Given the description of an element on the screen output the (x, y) to click on. 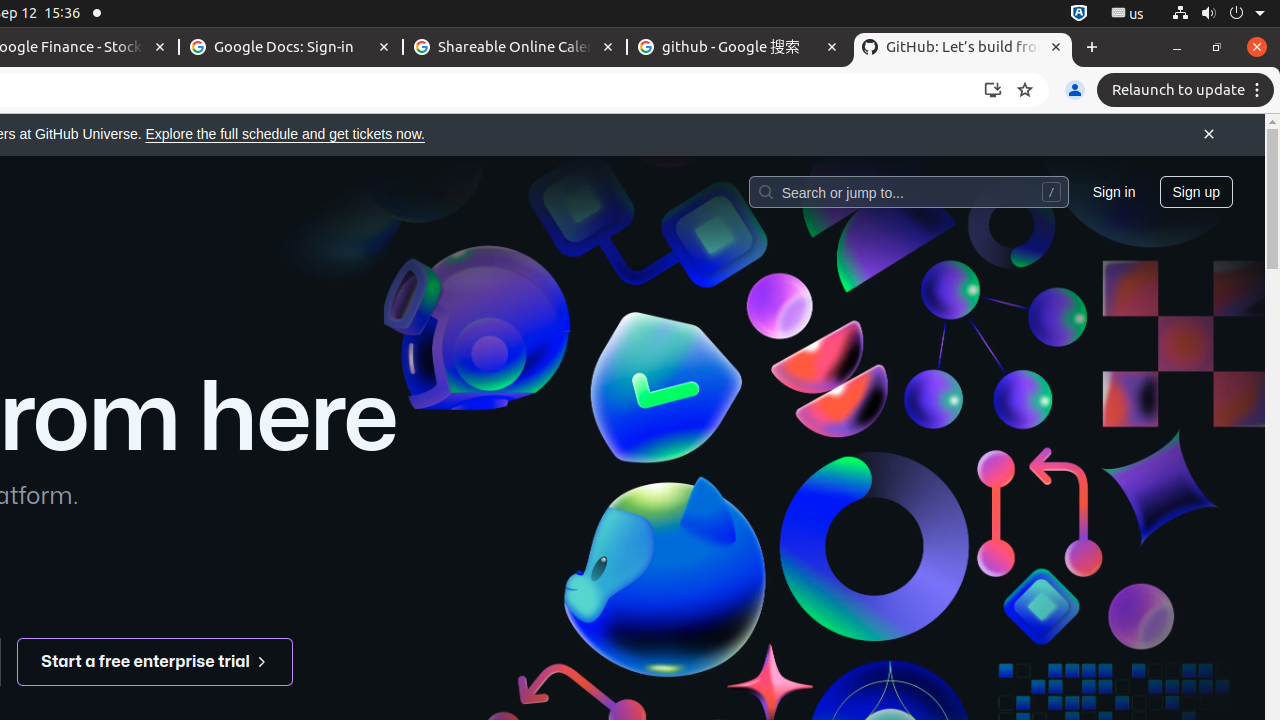
Shareable Online Calendar and Scheduling - Google Calendar - Memory usage - 88.4 MB Element type: page-tab (515, 47)
Relaunch to update Element type: push-button (1188, 90)
Start a free enterprise trial  Element type: link (155, 661)
Sign up Element type: link (1196, 191)
Bookmark this tab Element type: push-button (1025, 90)
